Given the description of an element on the screen output the (x, y) to click on. 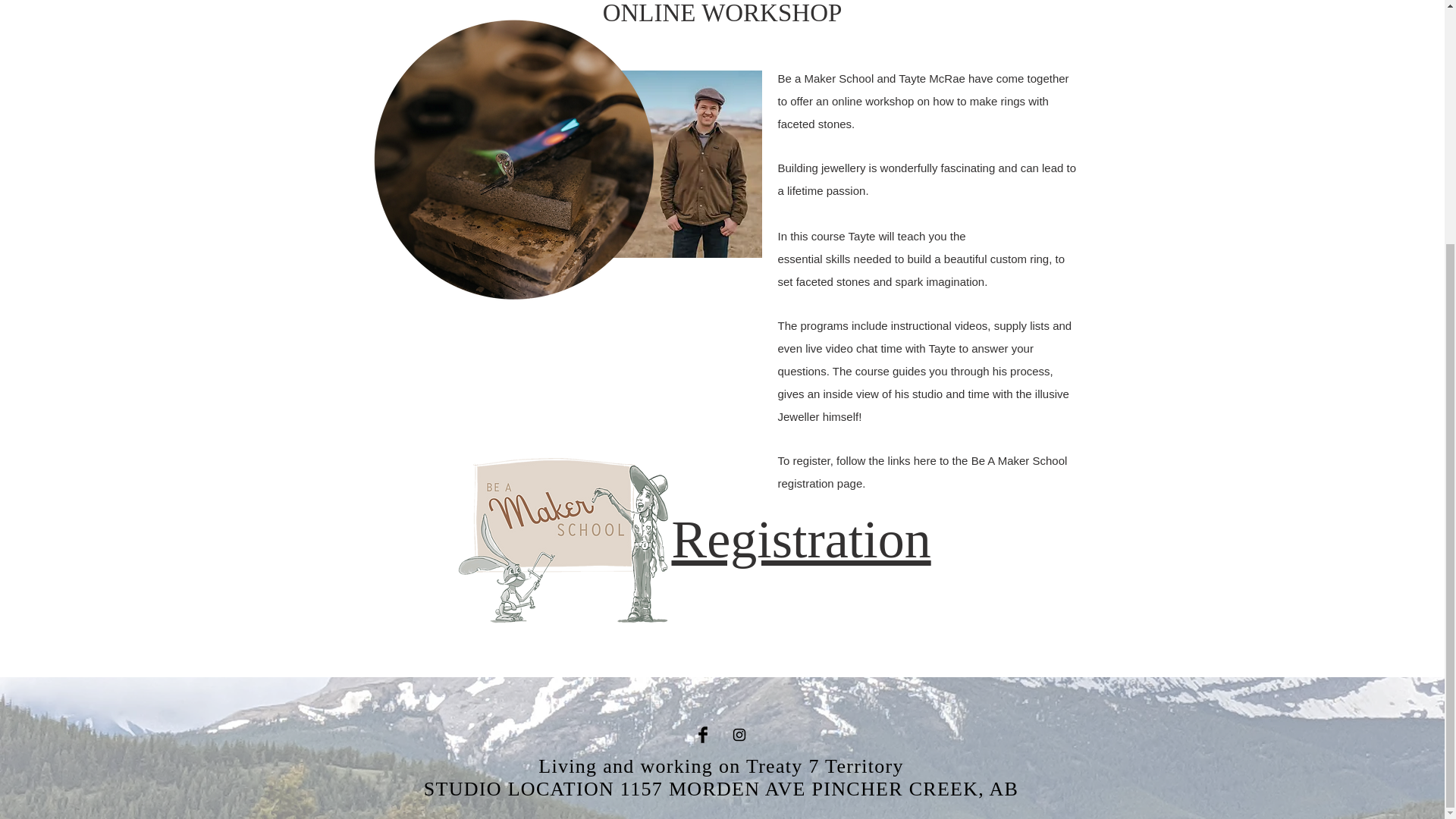
Registration (801, 539)
